Given the description of an element on the screen output the (x, y) to click on. 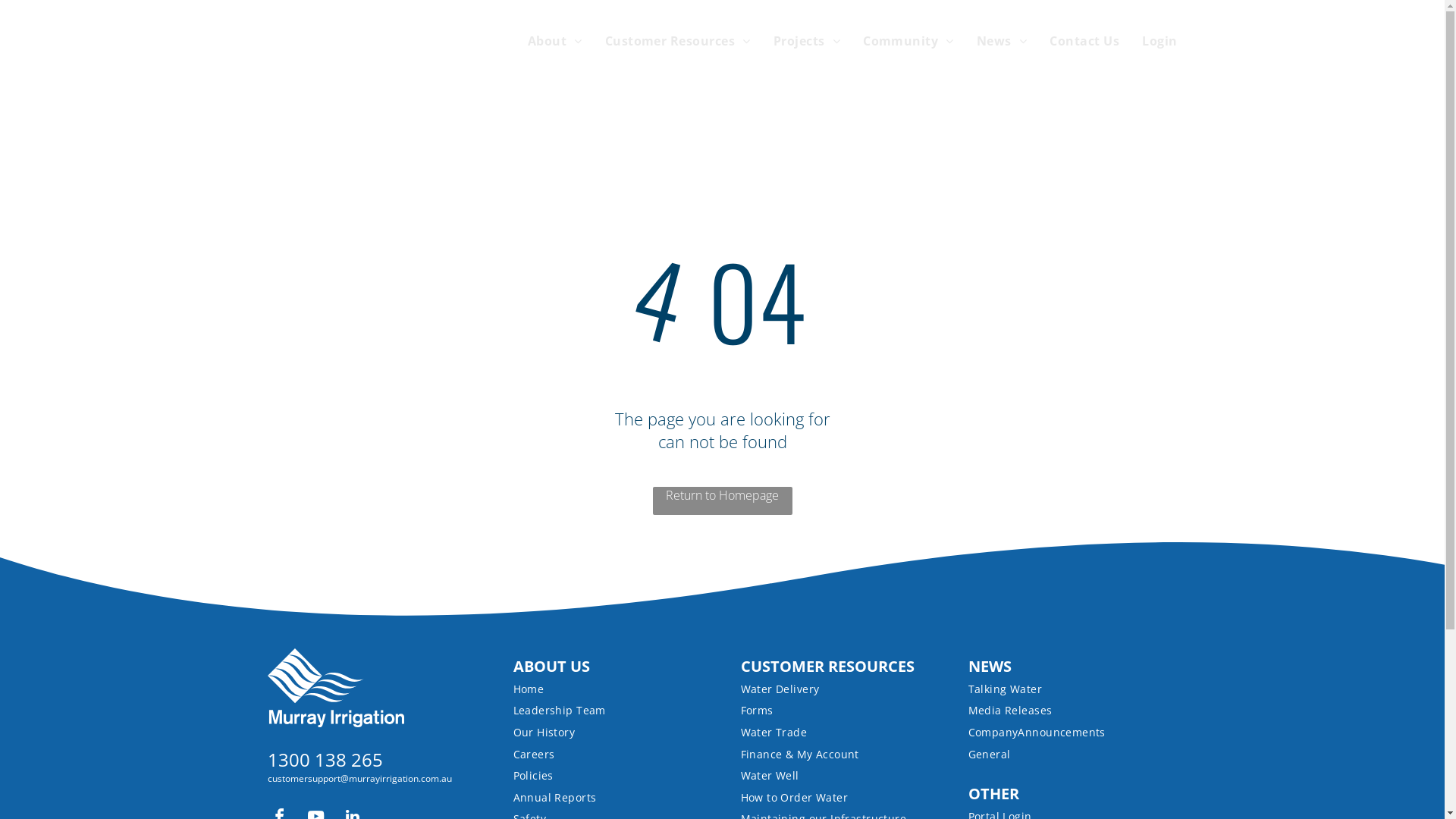
CompanyAnnouncements Element type: text (1053, 732)
General Element type: text (1053, 754)
News Element type: text (989, 40)
Talking Water Element type: text (1053, 688)
Water Well Element type: text (829, 775)
Media Releases Element type: text (1053, 710)
Water Trade Element type: text (829, 732)
Login Element type: text (1147, 40)
Policies Element type: text (602, 775)
How to Order Water Element type: text (829, 797)
Forms Element type: text (829, 710)
Back to home Element type: hover (342, 61)
Customer Resources Element type: text (666, 40)
Community Element type: text (896, 40)
Careers Element type: text (602, 754)
Projects Element type: text (795, 40)
Finance & My Account Element type: text (829, 754)
Our History Element type: text (602, 732)
Annual Reports Element type: text (602, 797)
Water Delivery Element type: text (829, 688)
Leadership Team Element type: text (602, 710)
About Element type: text (543, 40)
Contact Us Element type: text (1072, 40)
customersupport@murrayirrigation.com.au Element type: text (358, 777)
Home Element type: text (602, 688)
Return to Homepage Element type: text (721, 500)
Back to home Element type: hover (334, 687)
